Given the description of an element on the screen output the (x, y) to click on. 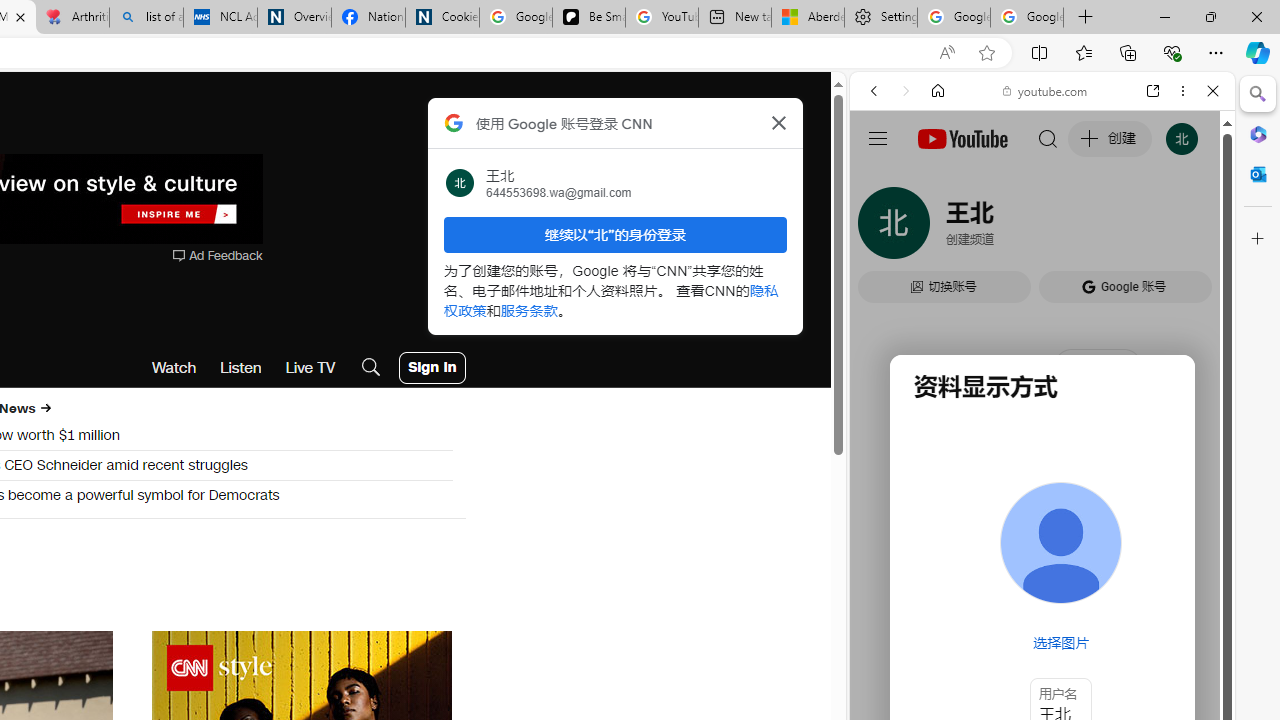
Aberdeen, Hong Kong SAR hourly forecast | Microsoft Weather (807, 17)
Search Filter, VIDEOS (1006, 228)
YouTube (1034, 296)
Arthritis: Ask Health Professionals (71, 17)
Search Filter, IMAGES (939, 228)
Search Filter, WEB (882, 228)
Forward (906, 91)
NCL Adult Asthma Inhaler Choice Guideline (220, 17)
Music (1042, 543)
